Given the description of an element on the screen output the (x, y) to click on. 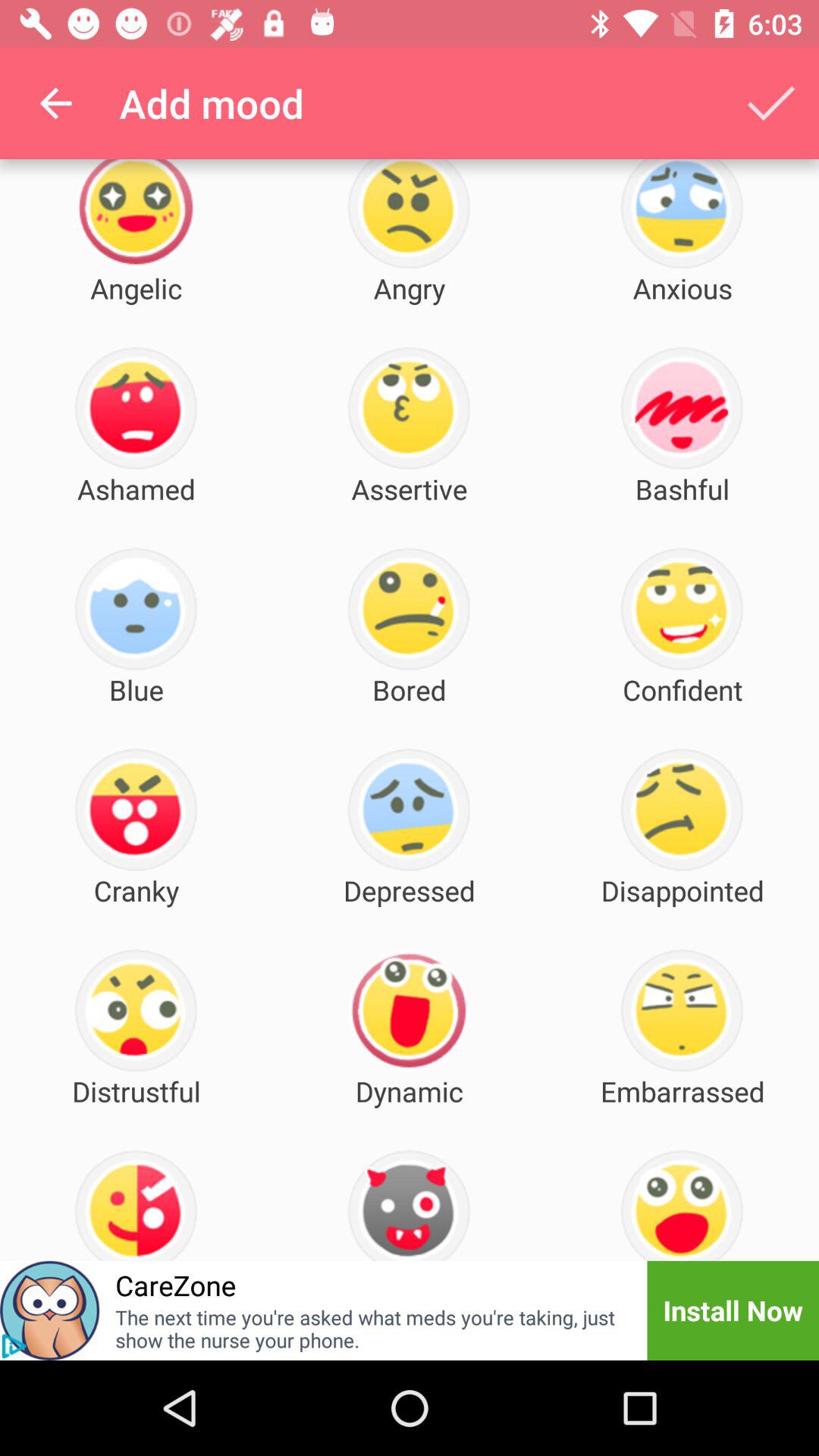
turn on the icon next to the add mood (55, 103)
